Given the description of an element on the screen output the (x, y) to click on. 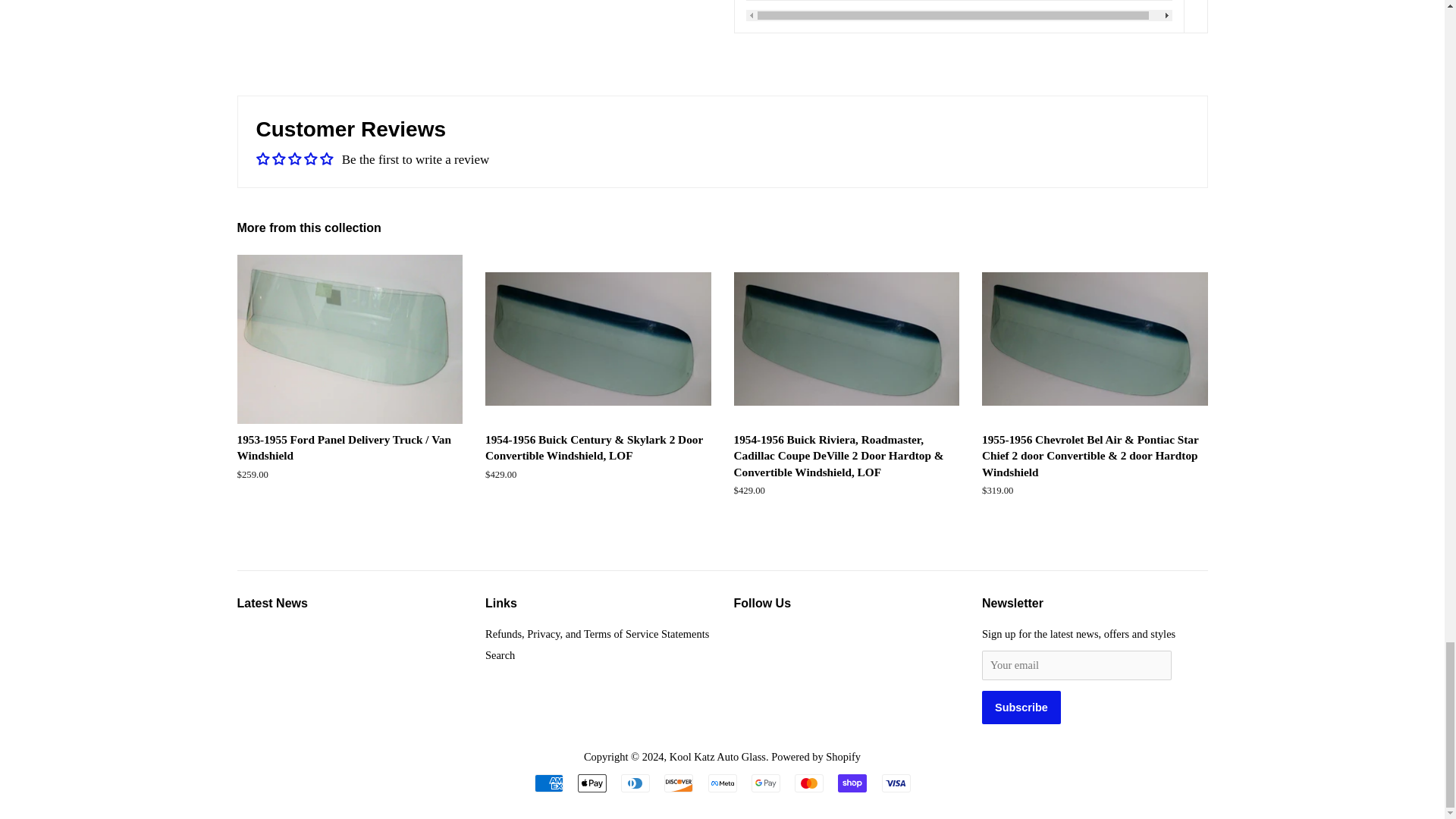
Google Pay (765, 782)
Meta Pay (721, 782)
Subscribe (1021, 707)
Mastercard (809, 782)
Visa (895, 782)
Diners Club (635, 782)
American Express (548, 782)
Shop Pay (852, 782)
Apple Pay (592, 782)
Discover (678, 782)
